Given the description of an element on the screen output the (x, y) to click on. 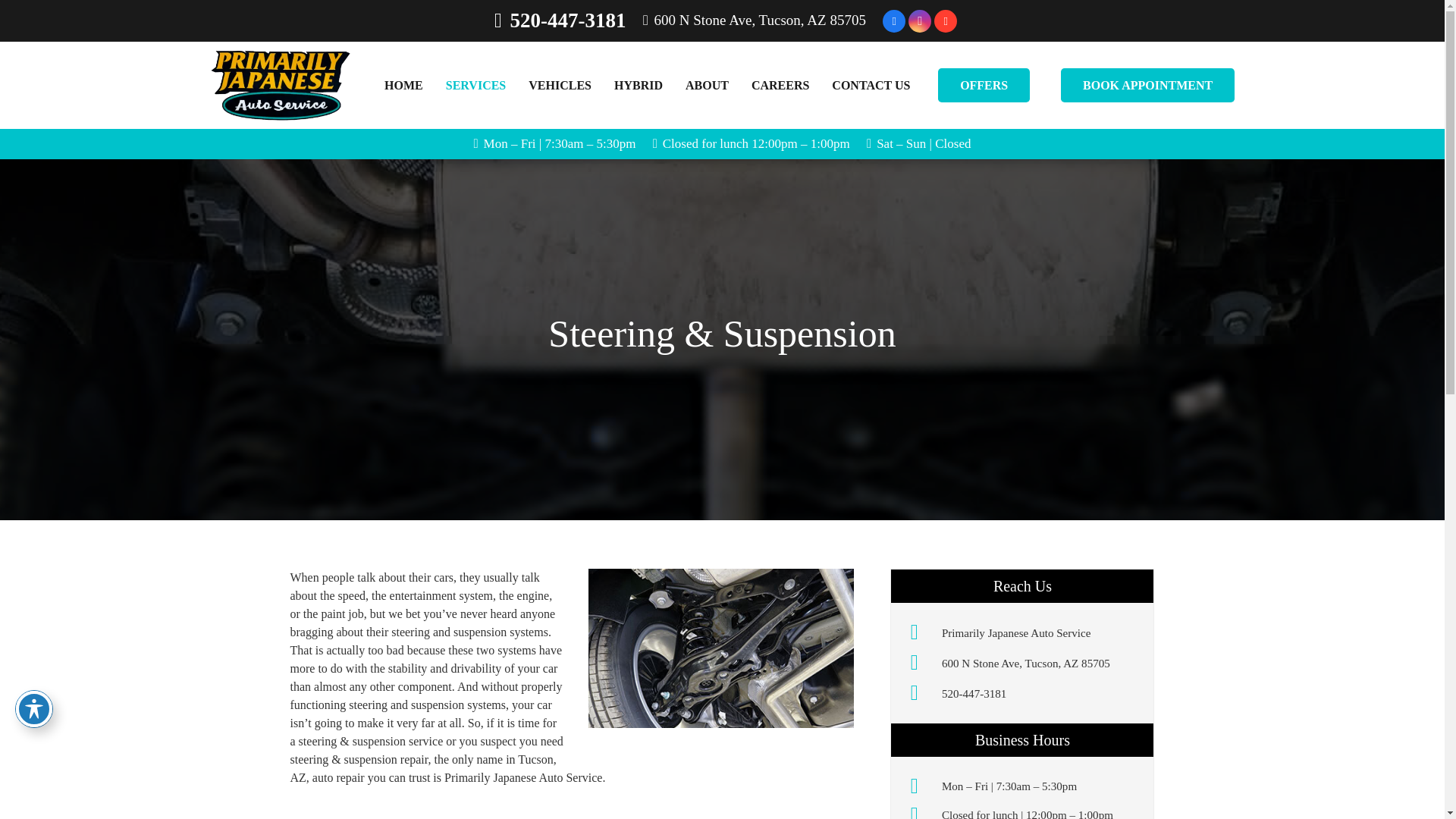
Home (921, 632)
VEHICLES (559, 85)
ABOUT (706, 85)
600 N Stone Ave, Tucson, AZ 85705 (754, 19)
520-447-3181 (560, 20)
BOOK APPOINTMENT (1147, 84)
SERVICES (474, 85)
HYBRID (638, 85)
HOME (402, 85)
OFFERS (983, 84)
